Given the description of an element on the screen output the (x, y) to click on. 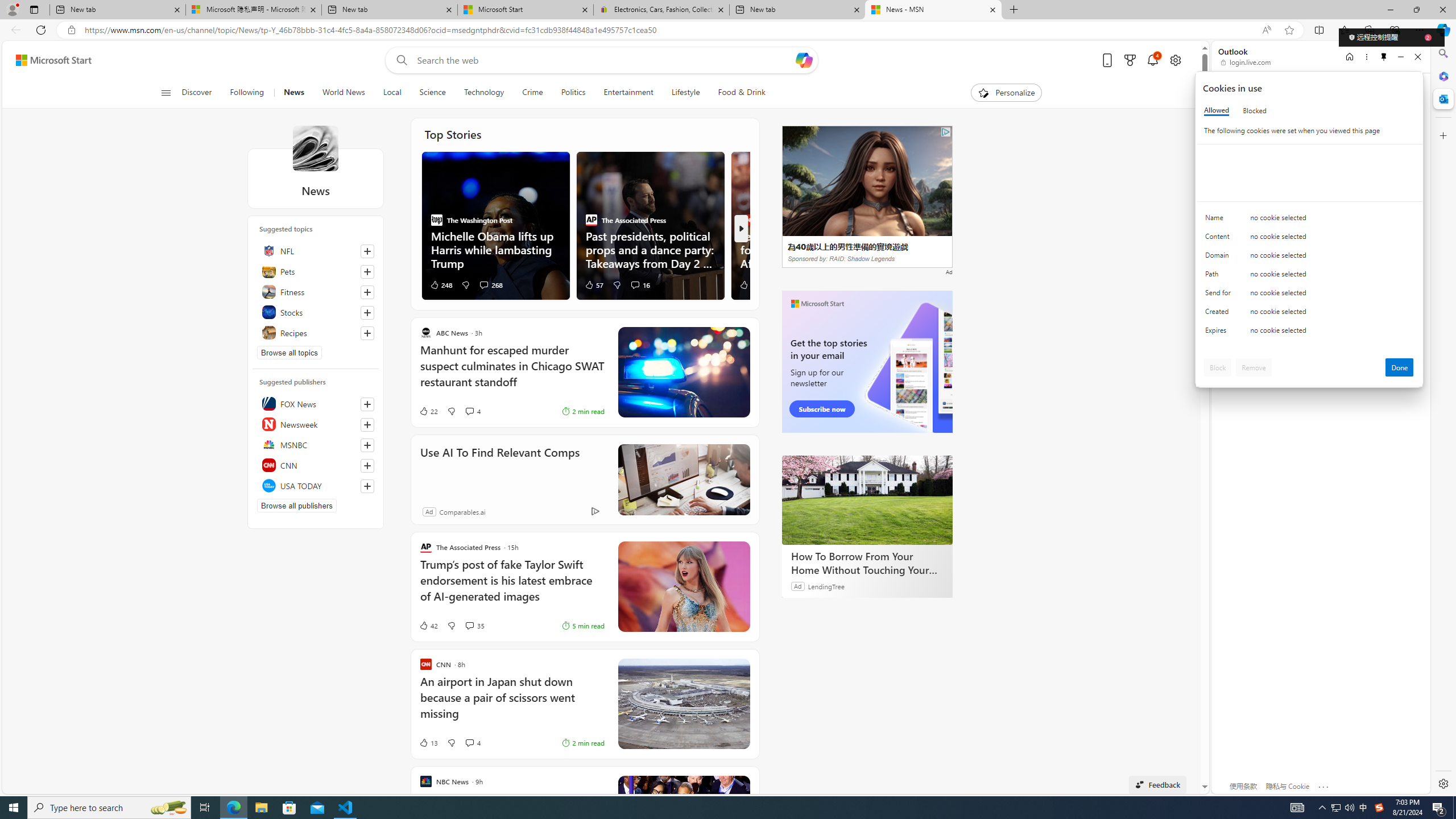
MSNBC (315, 444)
Recipes (315, 332)
Class: creative__ad-choice_image (945, 131)
Name (1219, 220)
Follow this source (367, 486)
